Given the description of an element on the screen output the (x, y) to click on. 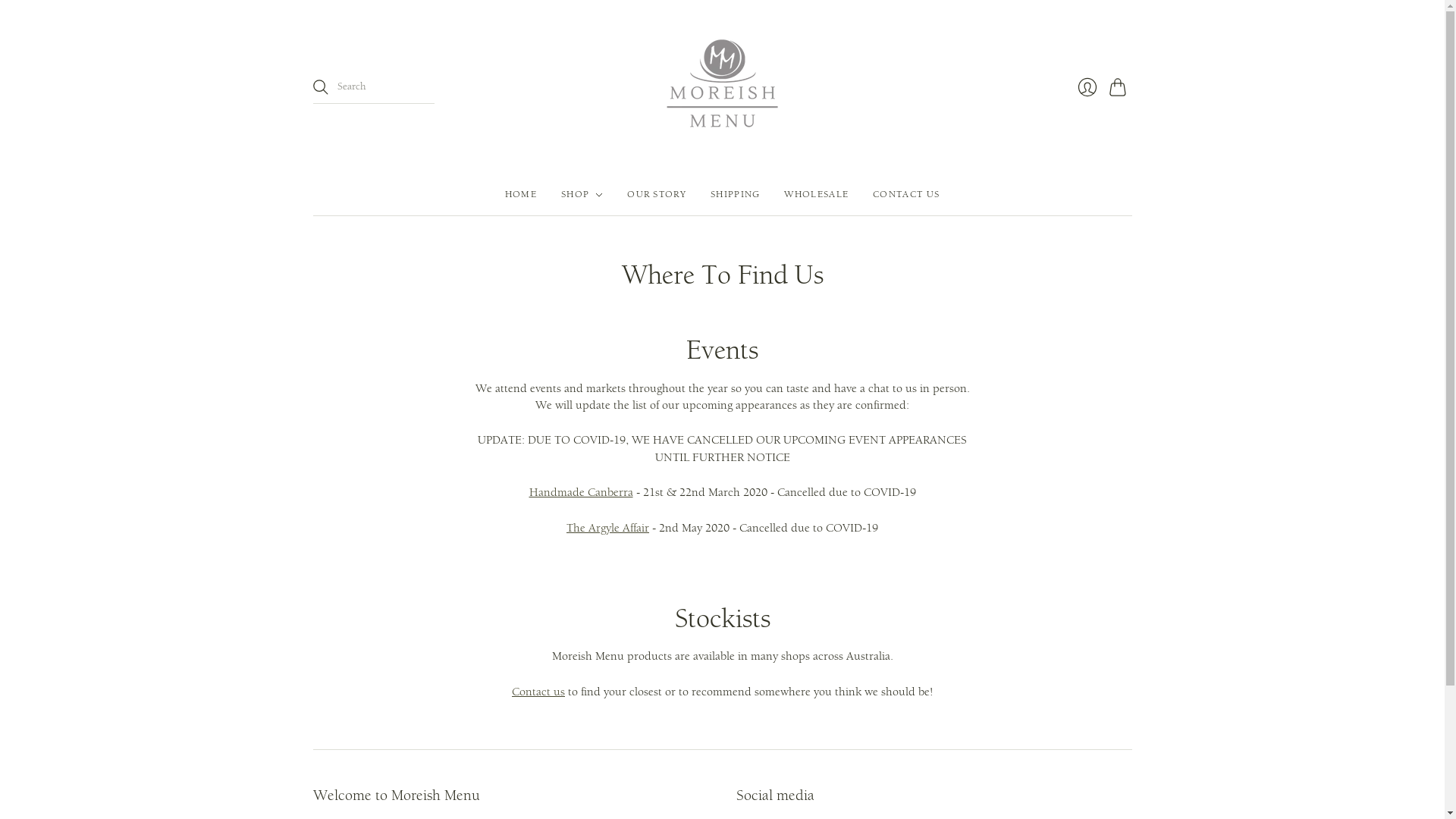
Login Element type: text (1086, 87)
SHIPPING Element type: text (734, 194)
Cart Element type: text (1119, 87)
CONTACT US Element type: text (905, 194)
HOME Element type: text (520, 194)
The Argyle Affair Element type: text (607, 527)
WHOLESALE Element type: text (816, 194)
Handmade Canberra Element type: text (581, 492)
OUR STORY Element type: text (656, 194)
Contact us Element type: text (537, 691)
